Given the description of an element on the screen output the (x, y) to click on. 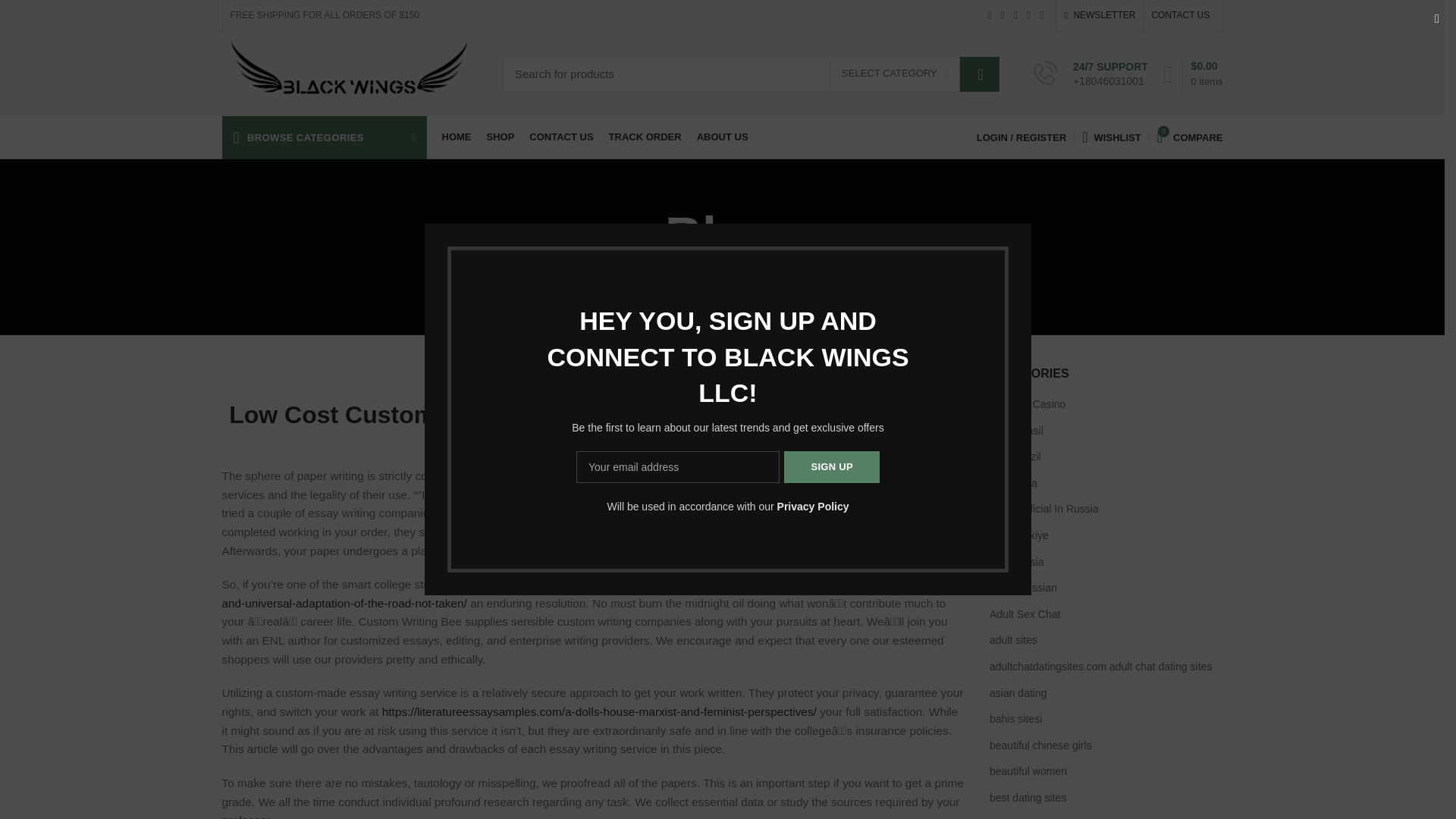
Sign up (831, 467)
NEWSLETTER (1099, 15)
Shopping cart (1193, 73)
SELECT CATEGORY (894, 73)
My Wishlist (1111, 137)
SELECT CATEGORY (894, 73)
Privacy Policy (812, 506)
Search for products (750, 73)
Sign up (831, 467)
Compare products (1190, 137)
